Given the description of an element on the screen output the (x, y) to click on. 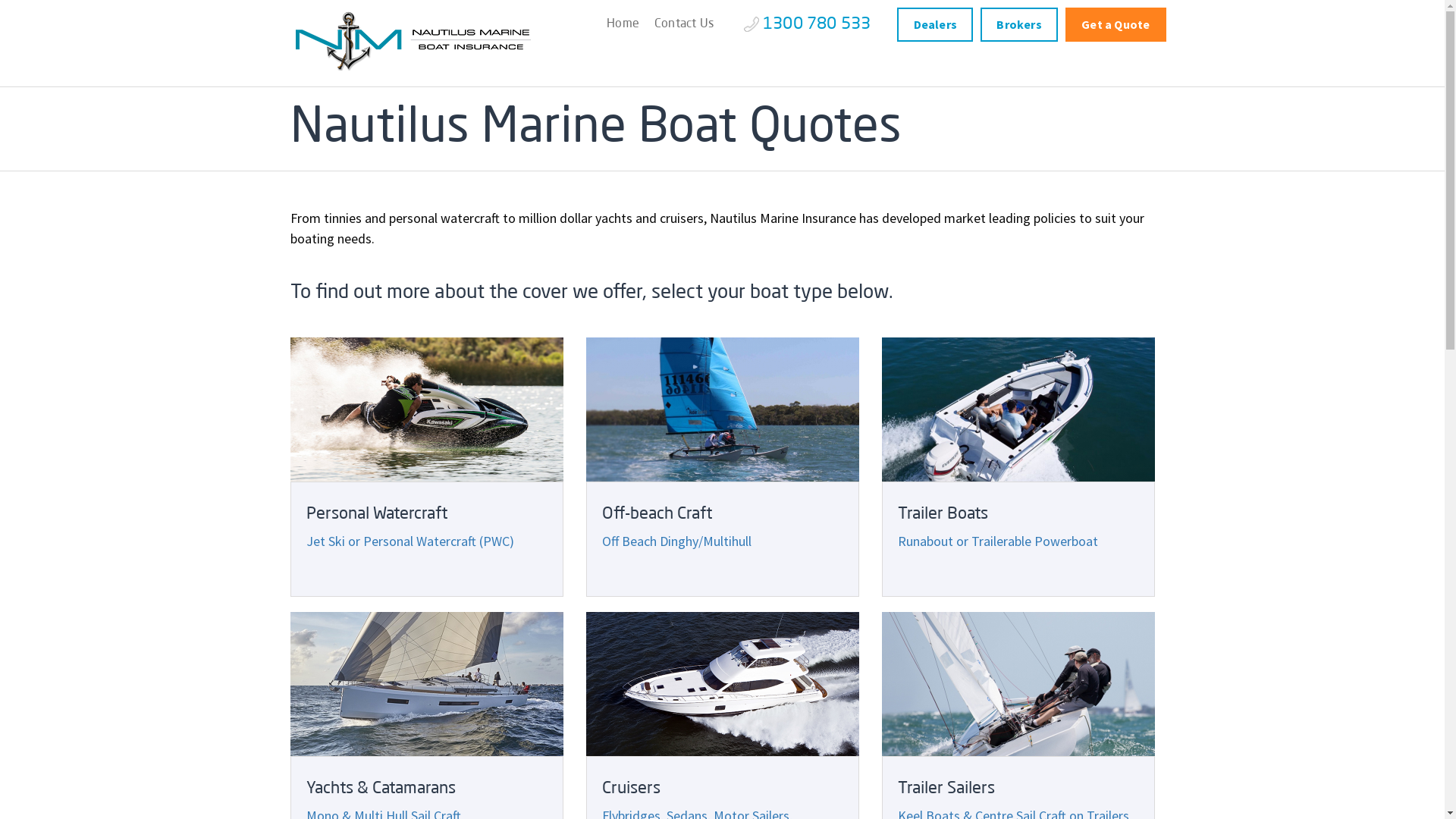
Get a Quote Element type: text (1115, 24)
Dealers Element type: text (934, 24)
Brokers Element type: text (1018, 24)
Off-beach Craft
Off Beach Dinghy/Multihull Element type: text (721, 466)
Home Element type: text (622, 24)
Contact Us Element type: text (683, 24)
Personal Watercraft
Jet Ski or Personal Watercraft (PWC) Element type: text (425, 466)
Trailer Boats
Runabout or Trailerable Powerboat Element type: text (1017, 466)
1300 780 533 Element type: text (805, 24)
